Given the description of an element on the screen output the (x, y) to click on. 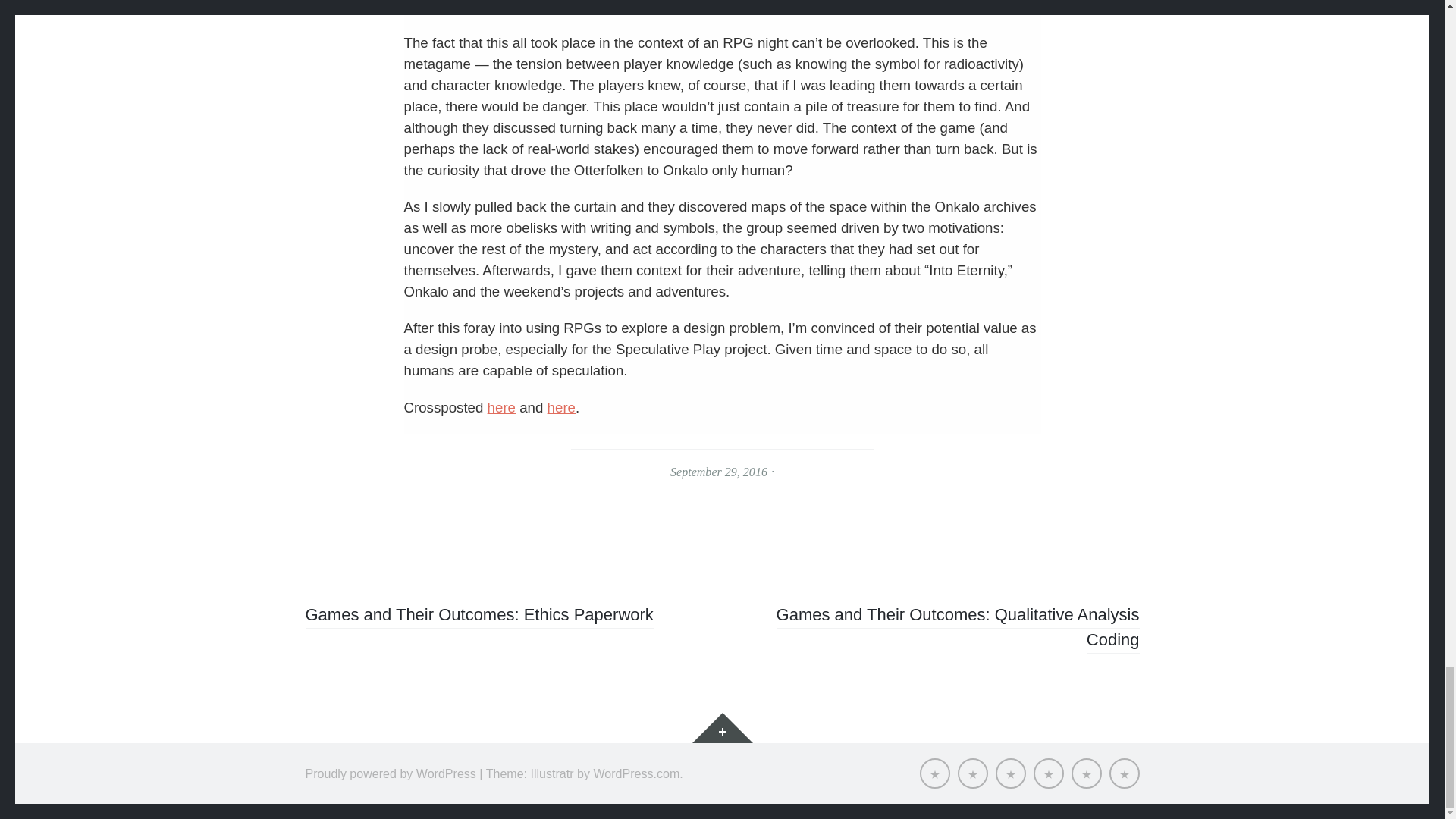
September 29, 2016 (718, 472)
Widgets (721, 727)
Games and Their Outcomes: Qualitative Analysis Coding (958, 629)
here (561, 407)
Games and Their Outcomes: Ethics Paperwork (478, 616)
here (501, 407)
